Given the description of an element on the screen output the (x, y) to click on. 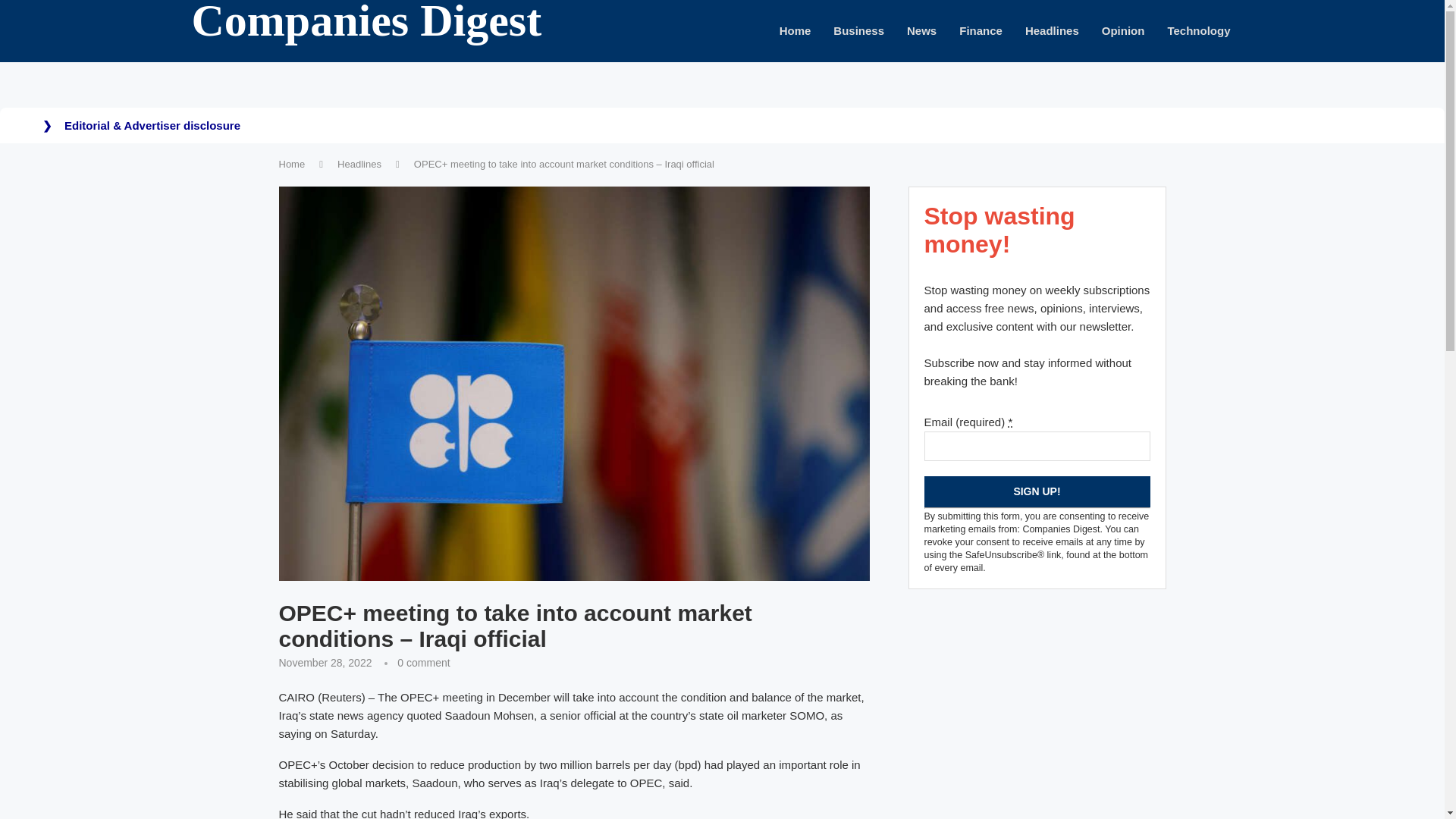
Sign up! (1036, 490)
Home (292, 163)
Companies Digest (365, 26)
Technology (1198, 30)
Sign up! (1036, 490)
Headlines (359, 163)
